Given the description of an element on the screen output the (x, y) to click on. 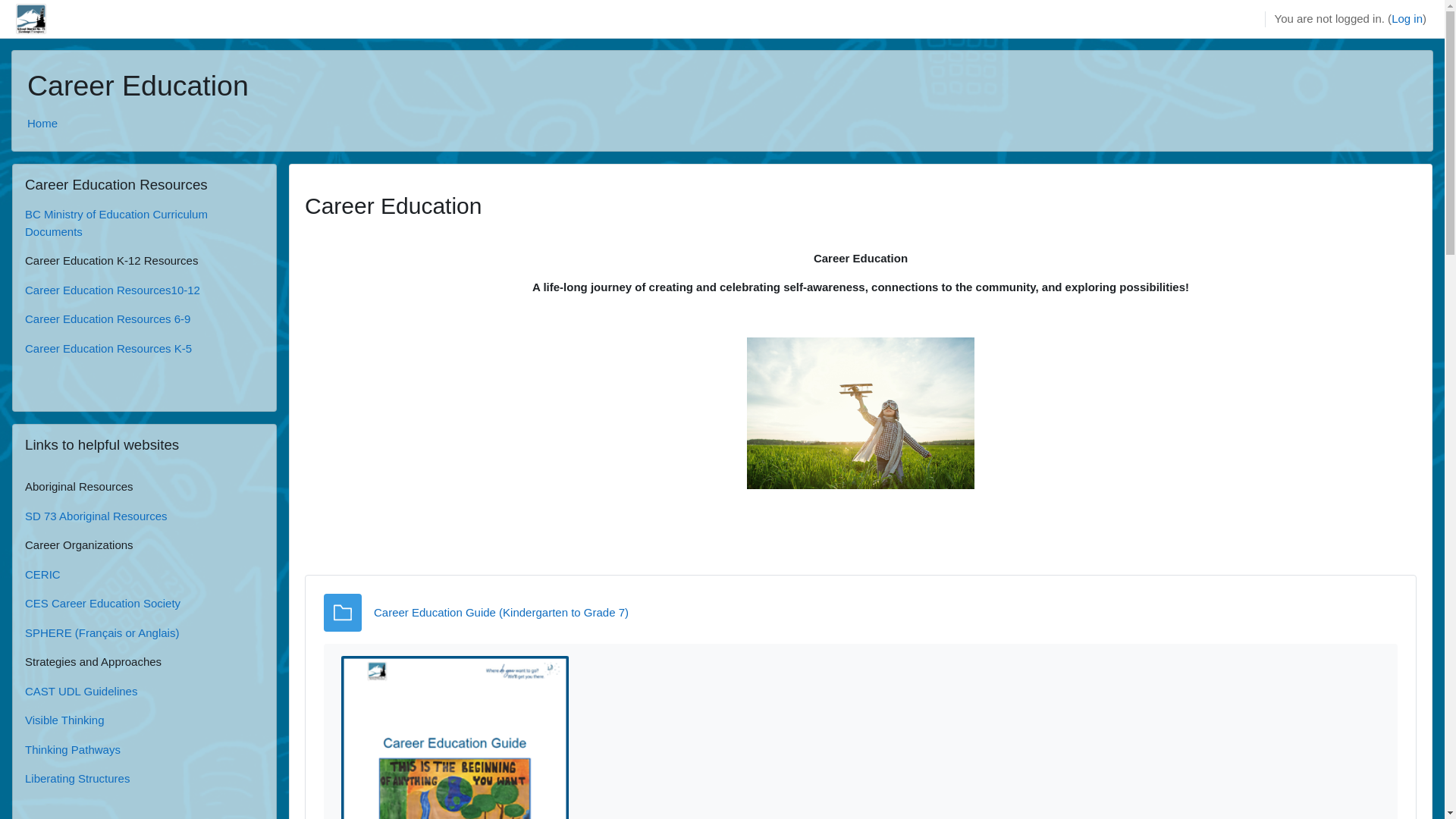
Home Element type: text (42, 122)
CES Career Education Society Element type: text (102, 602)
SD 73 Aboriginal Resources Element type: text (96, 515)
BC Ministry of Education Curriculum Documents Element type: text (116, 222)
Thinking Pathways Element type: text (72, 749)
Career Education Resources K-5 Element type: text (108, 347)
Visible Thinking Element type: text (64, 719)
CAST UDL Guidelines Element type: text (81, 690)
CERIC Element type: text (42, 573)
Skip Links to helpful websites Element type: text (11, 423)
Career Education Guide (Kindergarten to Grade 7)
Folder Element type: text (500, 611)
Career Education Resources 6-9 Element type: text (107, 318)
Career Education Resources10-12 Element type: text (112, 289)
Skip Career Education Resources Element type: text (11, 162)
Liberating Structures Element type: text (77, 777)
Log in Element type: text (1406, 19)
